Given the description of an element on the screen output the (x, y) to click on. 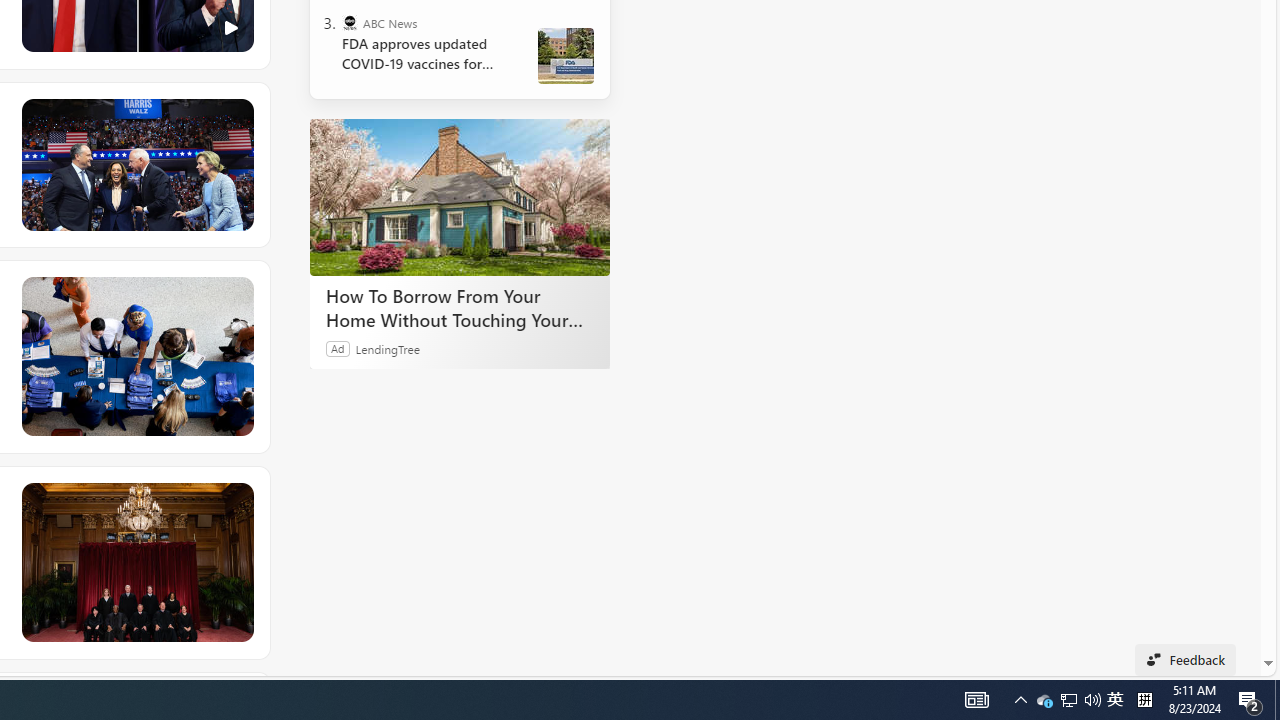
LendingTree (387, 348)
ABC News (349, 22)
